Given the description of an element on the screen output the (x, y) to click on. 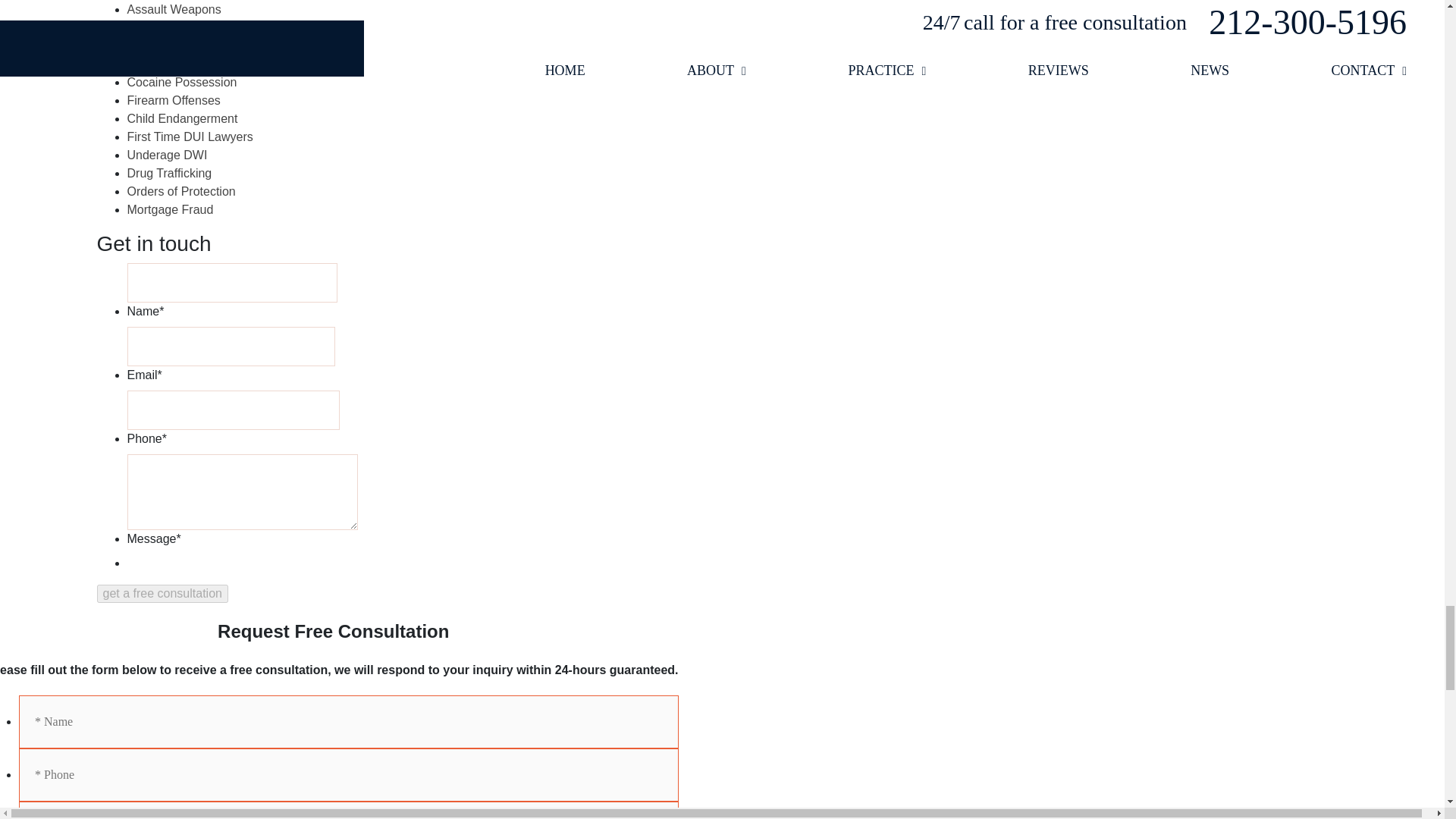
get a free consultation (162, 593)
